Given the description of an element on the screen output the (x, y) to click on. 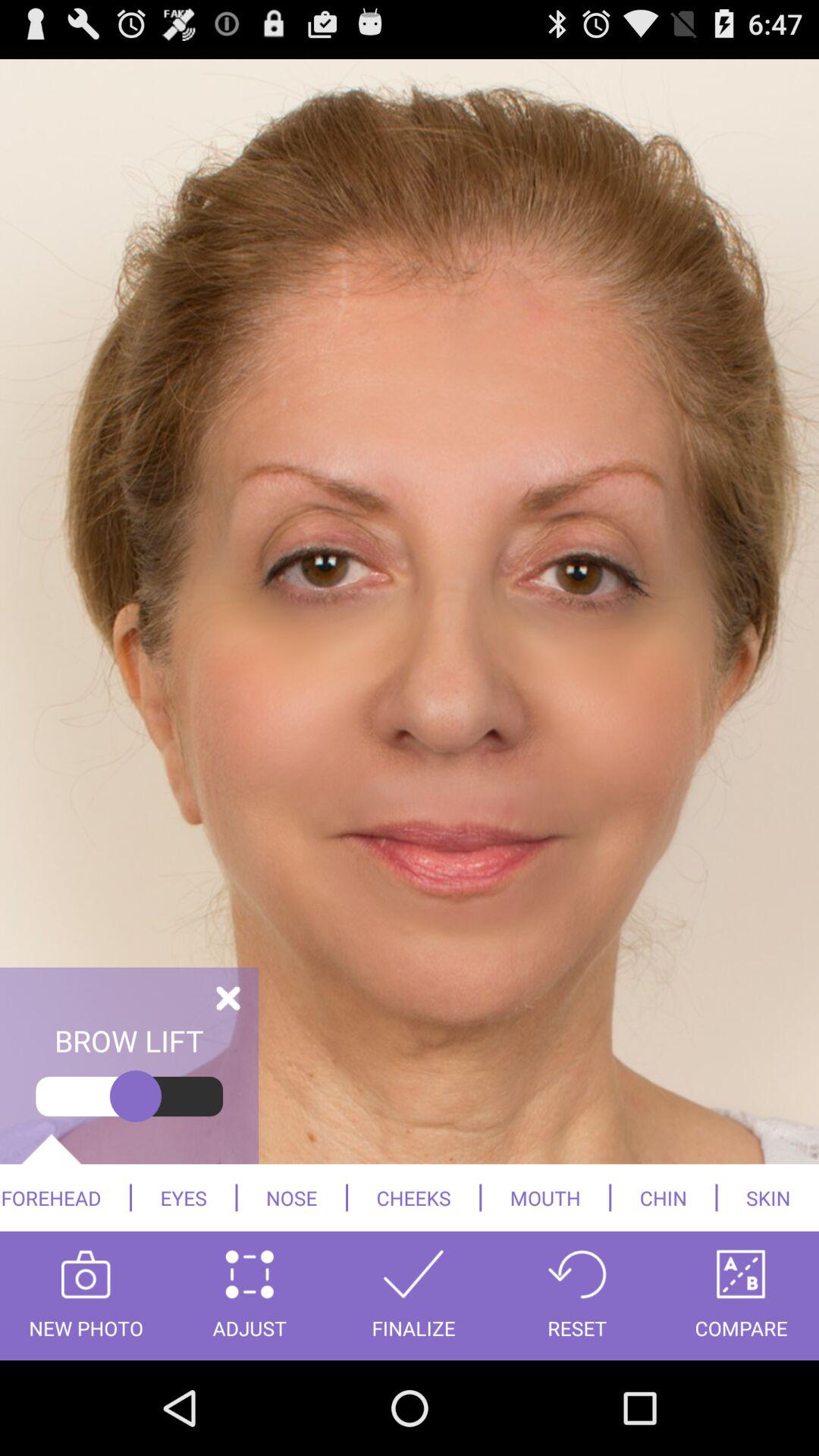
jump until the nose app (291, 1197)
